Given the description of an element on the screen output the (x, y) to click on. 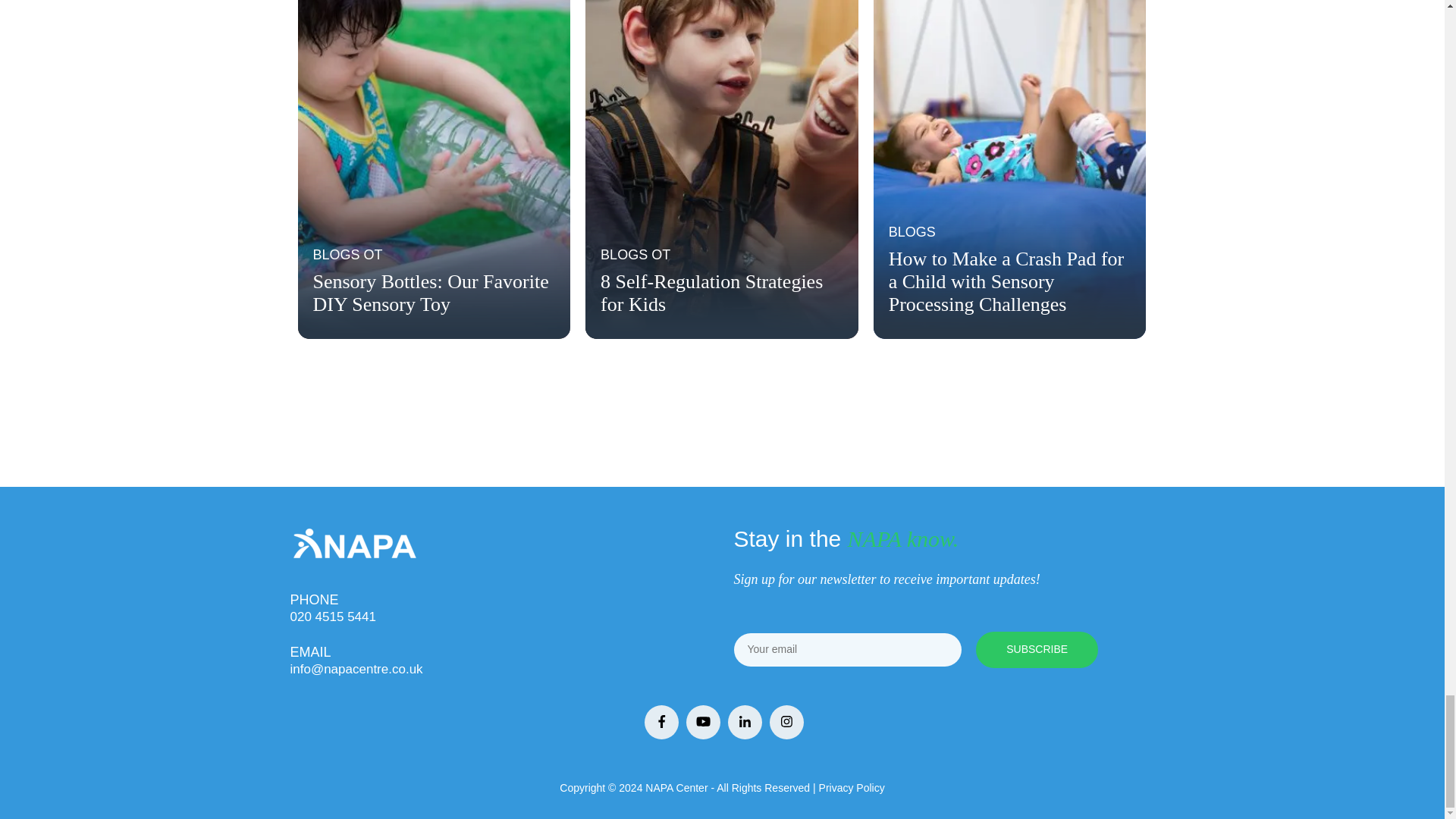
SUBSCRIBE (1036, 649)
